Given the description of an element on the screen output the (x, y) to click on. 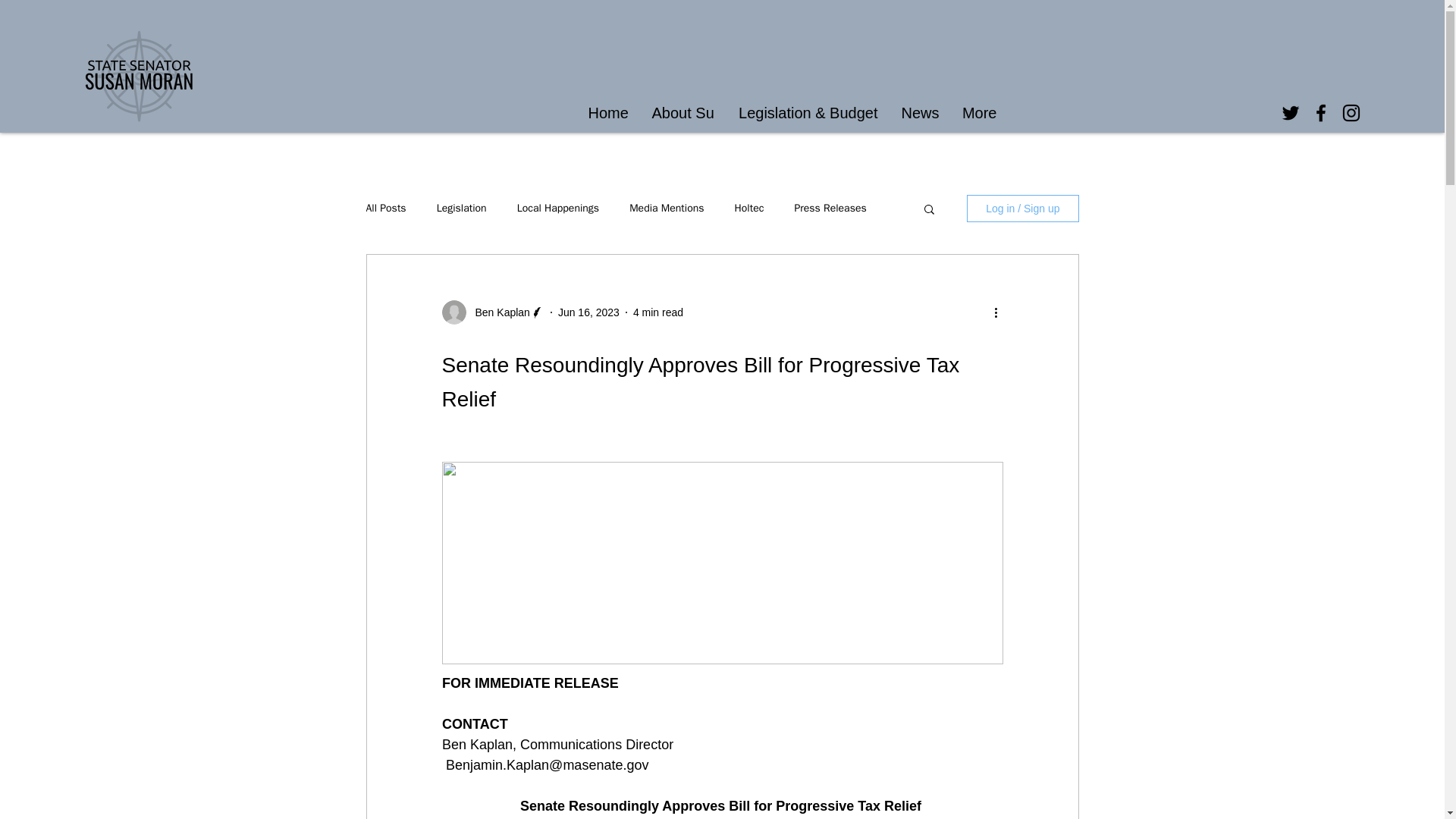
Legislation (461, 208)
News (918, 113)
Home (608, 113)
All Posts (385, 208)
Ben Kaplan (497, 312)
Jun 16, 2023 (588, 312)
Holtec (749, 208)
Press Releases (829, 208)
Local Happenings (557, 208)
Media Mentions (665, 208)
